Given the description of an element on the screen output the (x, y) to click on. 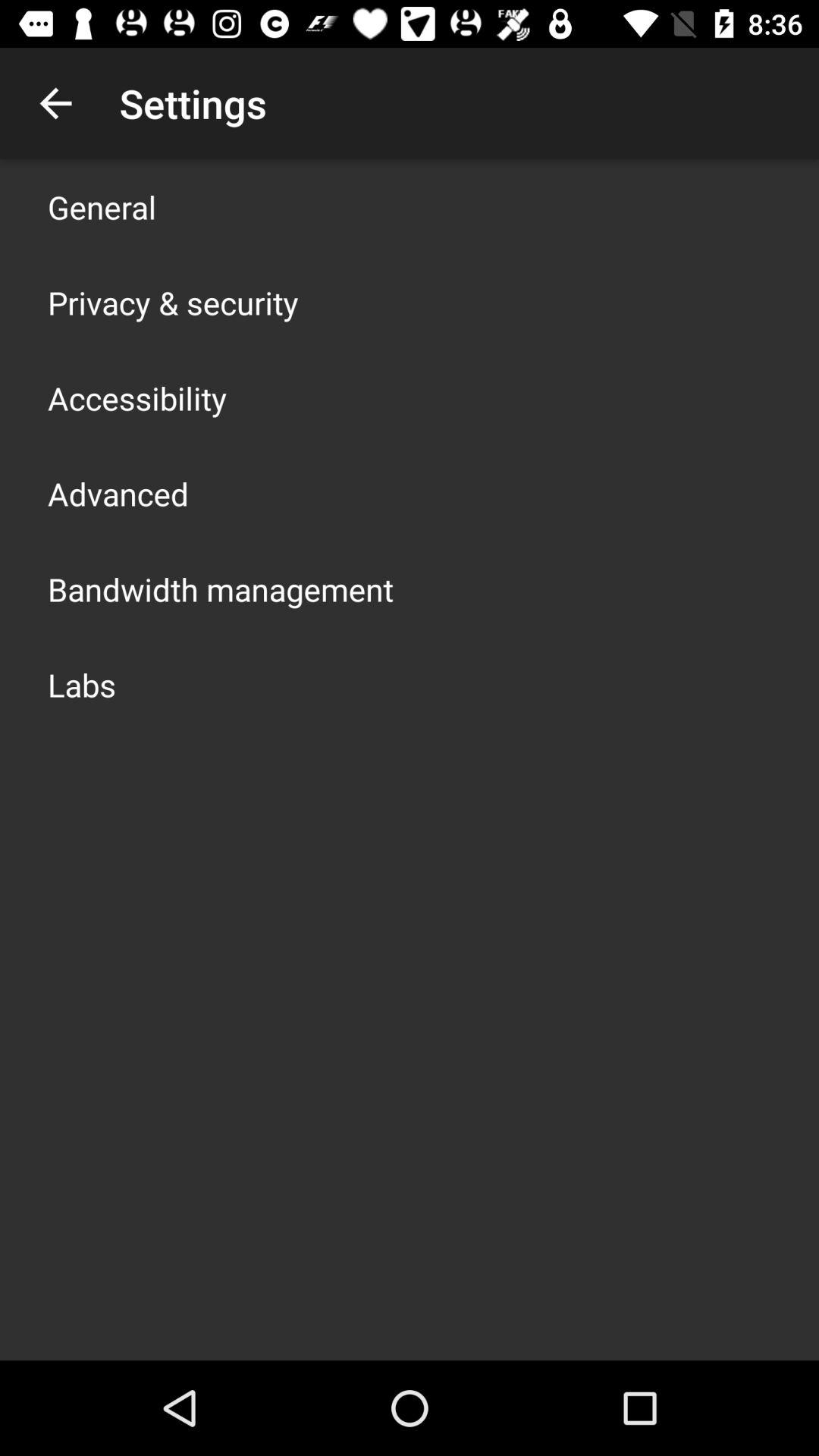
turn off the item above the advanced item (136, 397)
